Given the description of an element on the screen output the (x, y) to click on. 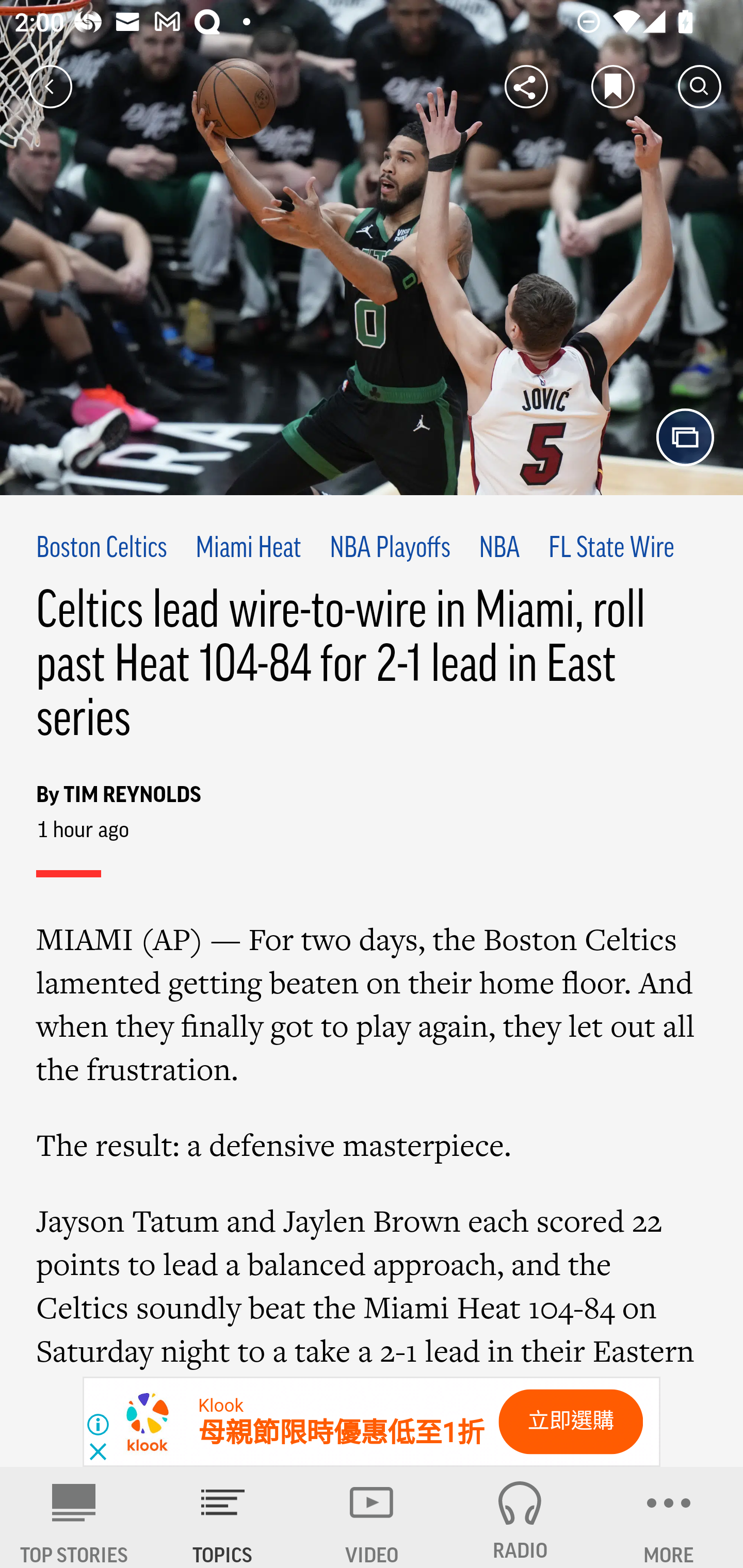
Boston Celtics (101, 549)
Miami Heat (247, 549)
NBA Playoffs (389, 549)
NBA (499, 549)
FL State Wire (610, 549)
立即選購 Klook 母親節限時優惠低至1折 立即選購 Klook 母親節限時優惠低至1折 (371, 1421)
AP News TOP STORIES (74, 1517)
TOPICS (222, 1517)
VIDEO (371, 1517)
RADIO (519, 1517)
MORE (668, 1517)
